Given the description of an element on the screen output the (x, y) to click on. 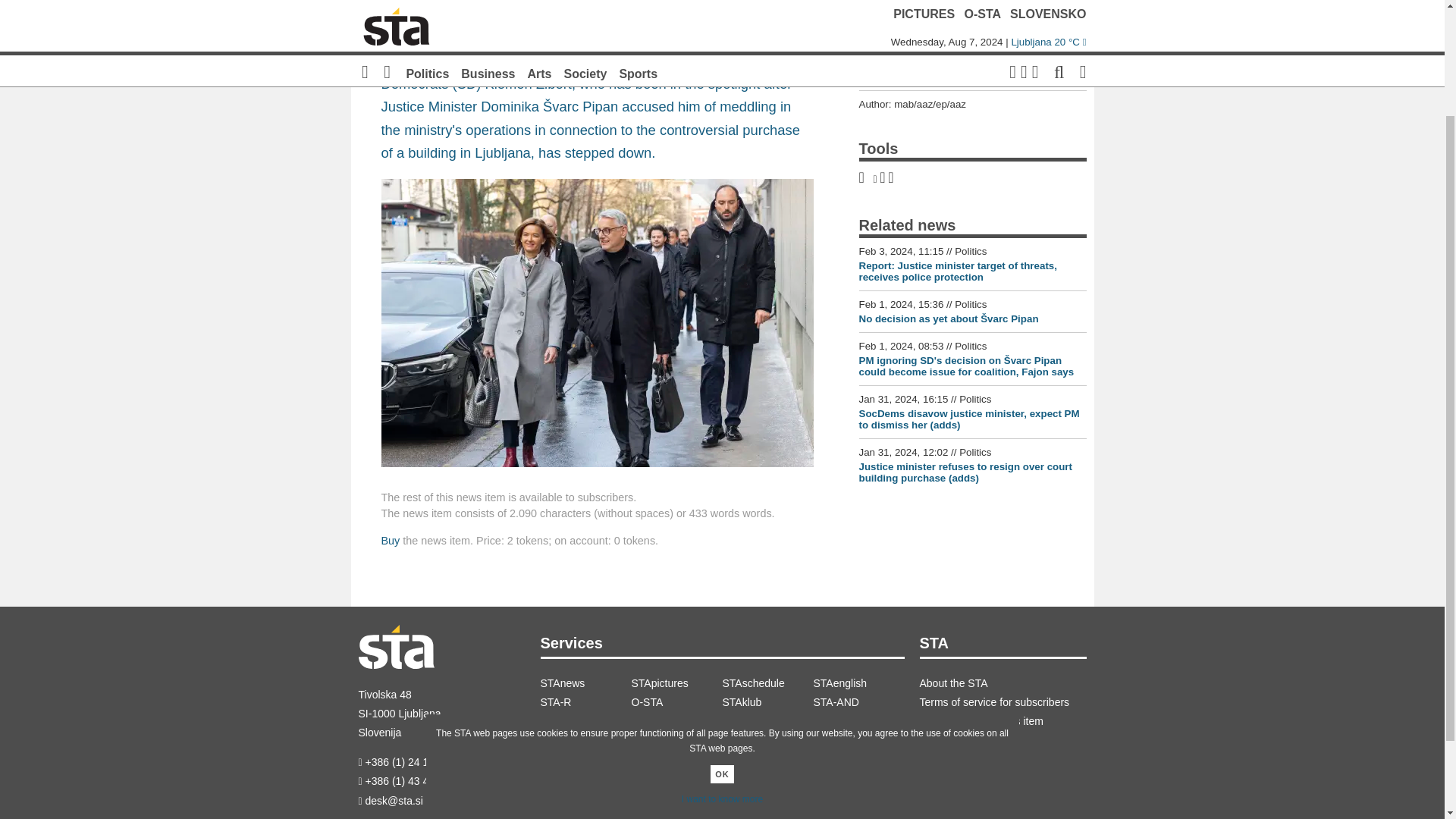
STApictures (676, 683)
STAnews (585, 683)
Buy (389, 540)
STAkrog (585, 721)
Public service (767, 721)
STAmisli (676, 721)
STA-R (585, 701)
STAenglish (858, 683)
STA-AND (858, 701)
STA-M (858, 721)
